Given the description of an element on the screen output the (x, y) to click on. 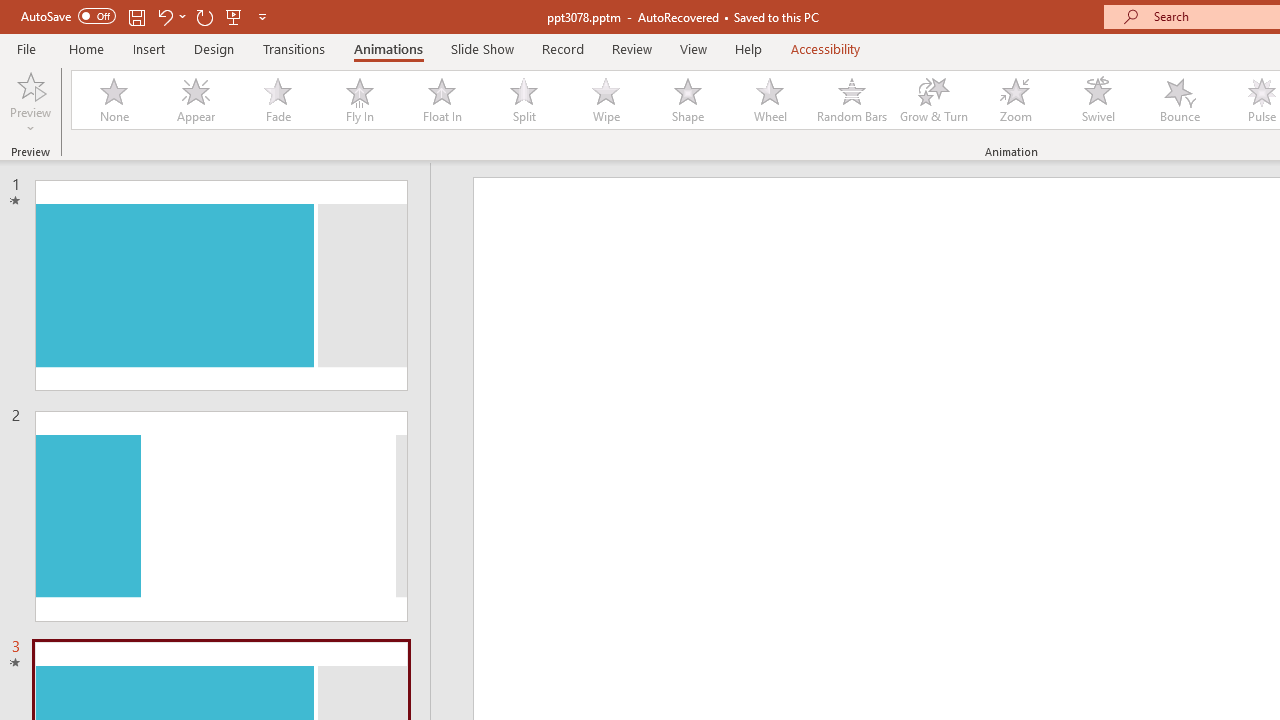
Grow & Turn (934, 100)
Fade (277, 100)
None (113, 100)
Bounce (1180, 100)
Split (523, 100)
Appear (195, 100)
